Given the description of an element on the screen output the (x, y) to click on. 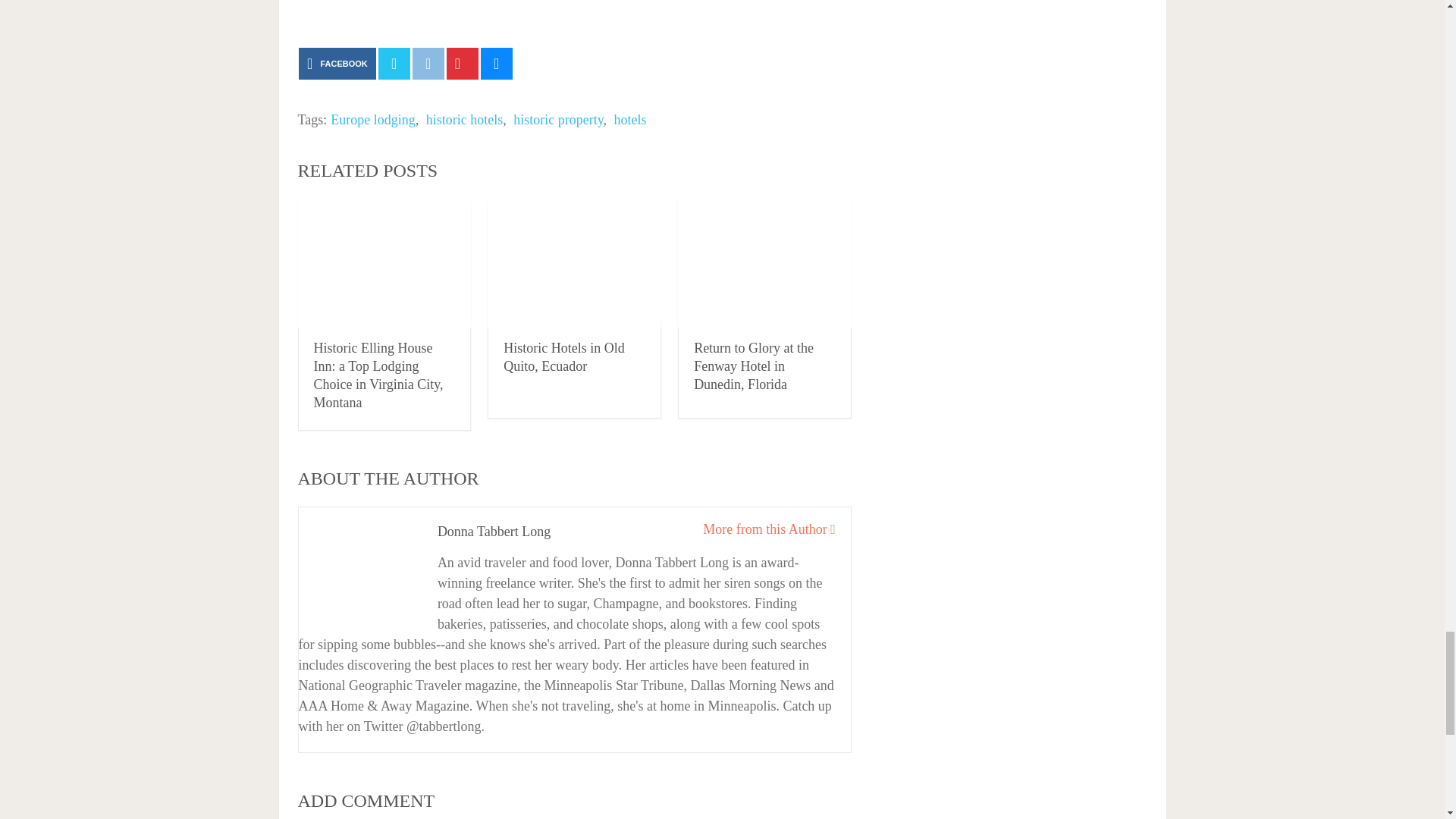
hotels (630, 119)
Historic Hotels in Old Quito, Ecuador (574, 263)
historic property (557, 119)
Return to Glory at the Fenway Hotel in Dunedin, Florida (764, 263)
Return to Glory at the Fenway Hotel in Dunedin, Florida (753, 366)
FACEBOOK (336, 63)
Europe lodging (372, 119)
Historic Hotels in Old Quito, Ecuador (563, 356)
historic hotels (464, 119)
Return to Glory at the Fenway Hotel in Dunedin, Florida (753, 366)
Historic Hotels in Old Quito, Ecuador (563, 356)
